Given the description of an element on the screen output the (x, y) to click on. 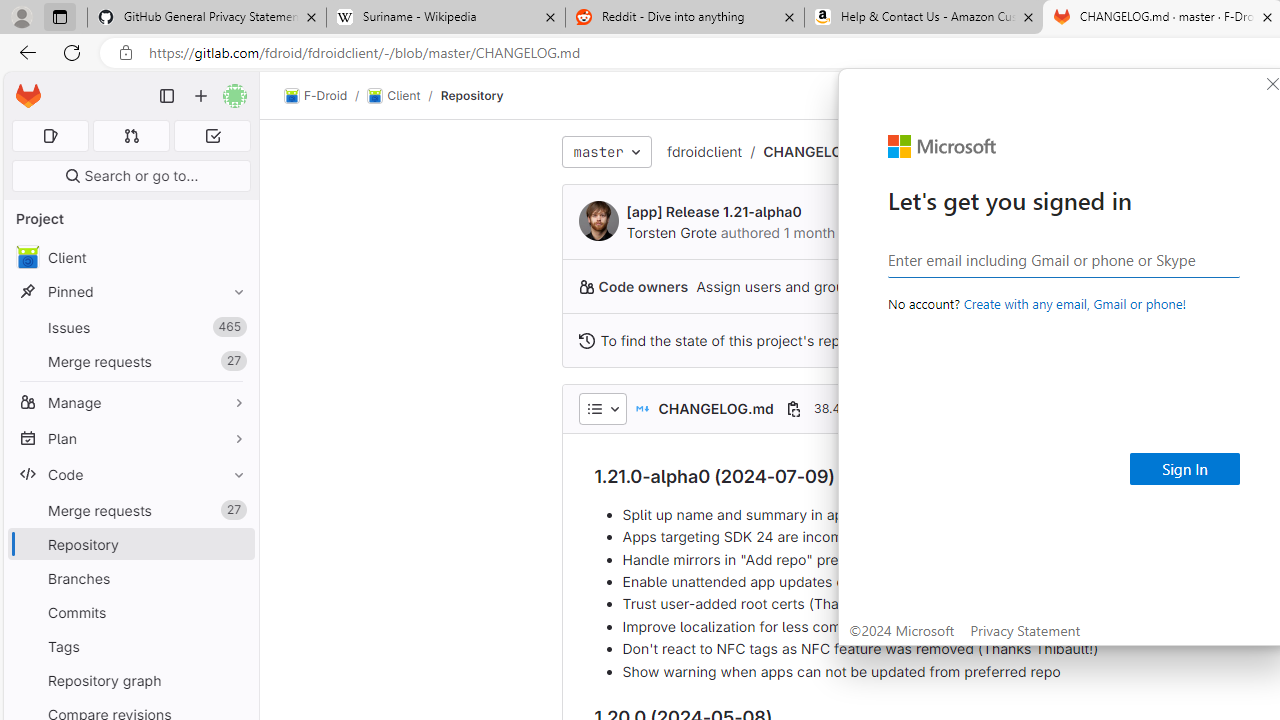
Primary navigation sidebar (167, 96)
Client (394, 96)
Reddit - Dive into anything (684, 17)
Create new... (201, 96)
AutomationID: dropdown-toggle-btn-50 (602, 408)
avatar Client (130, 257)
